Given the description of an element on the screen output the (x, y) to click on. 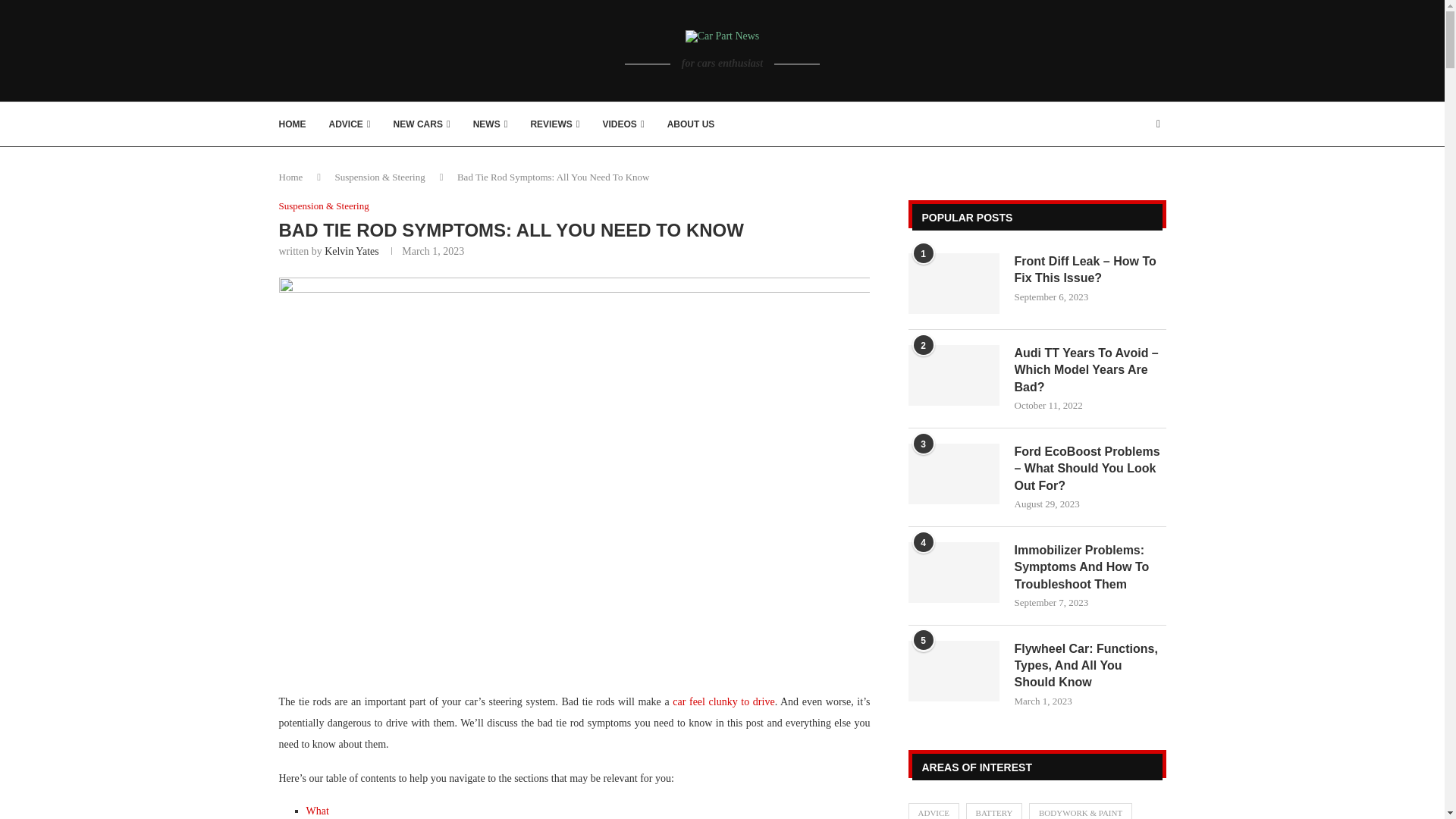
NEW CARS (421, 124)
ADVICE (350, 124)
NEWS (490, 124)
HOME (292, 124)
